Given the description of an element on the screen output the (x, y) to click on. 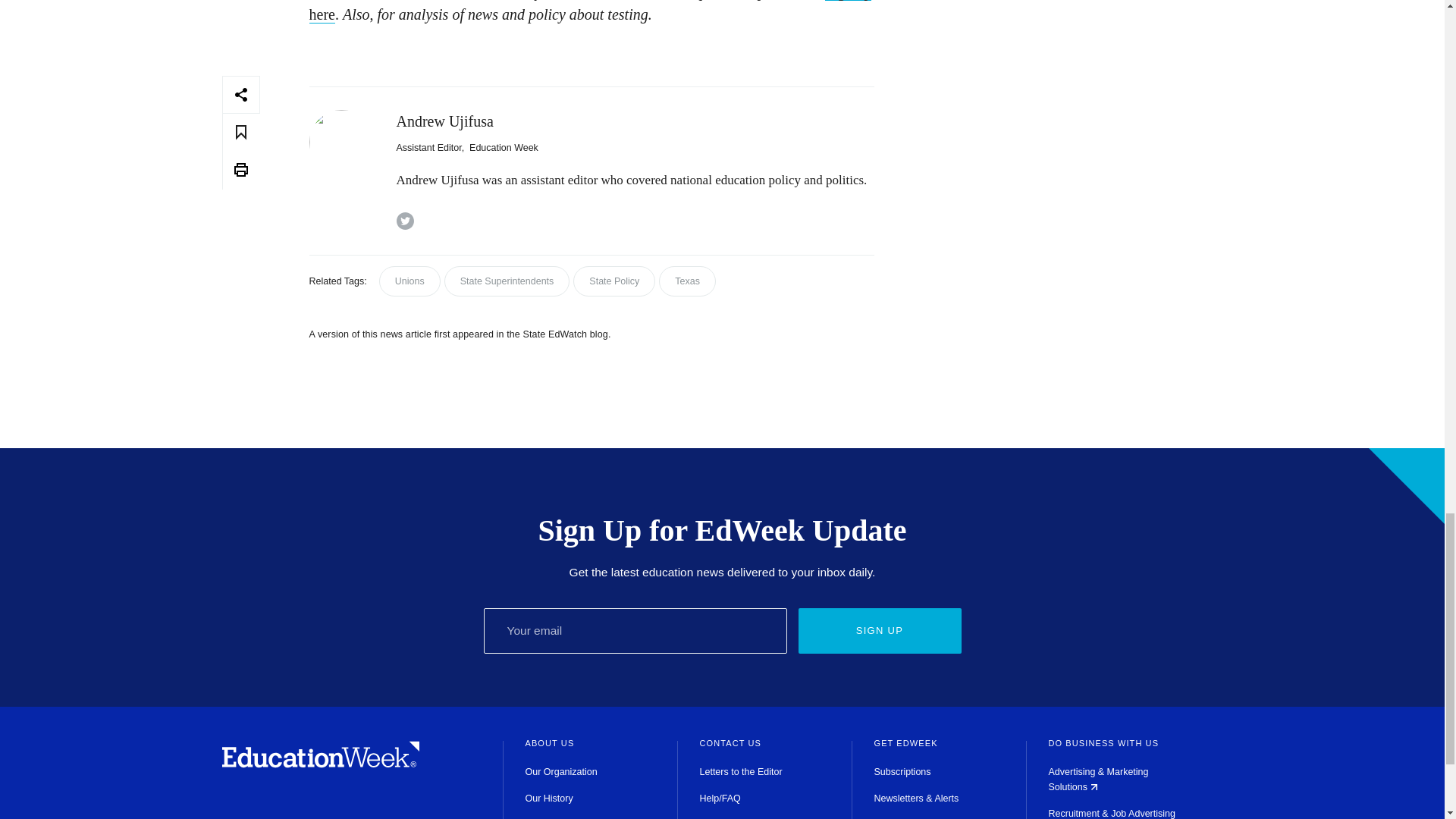
Homepage (320, 763)
